Given the description of an element on the screen output the (x, y) to click on. 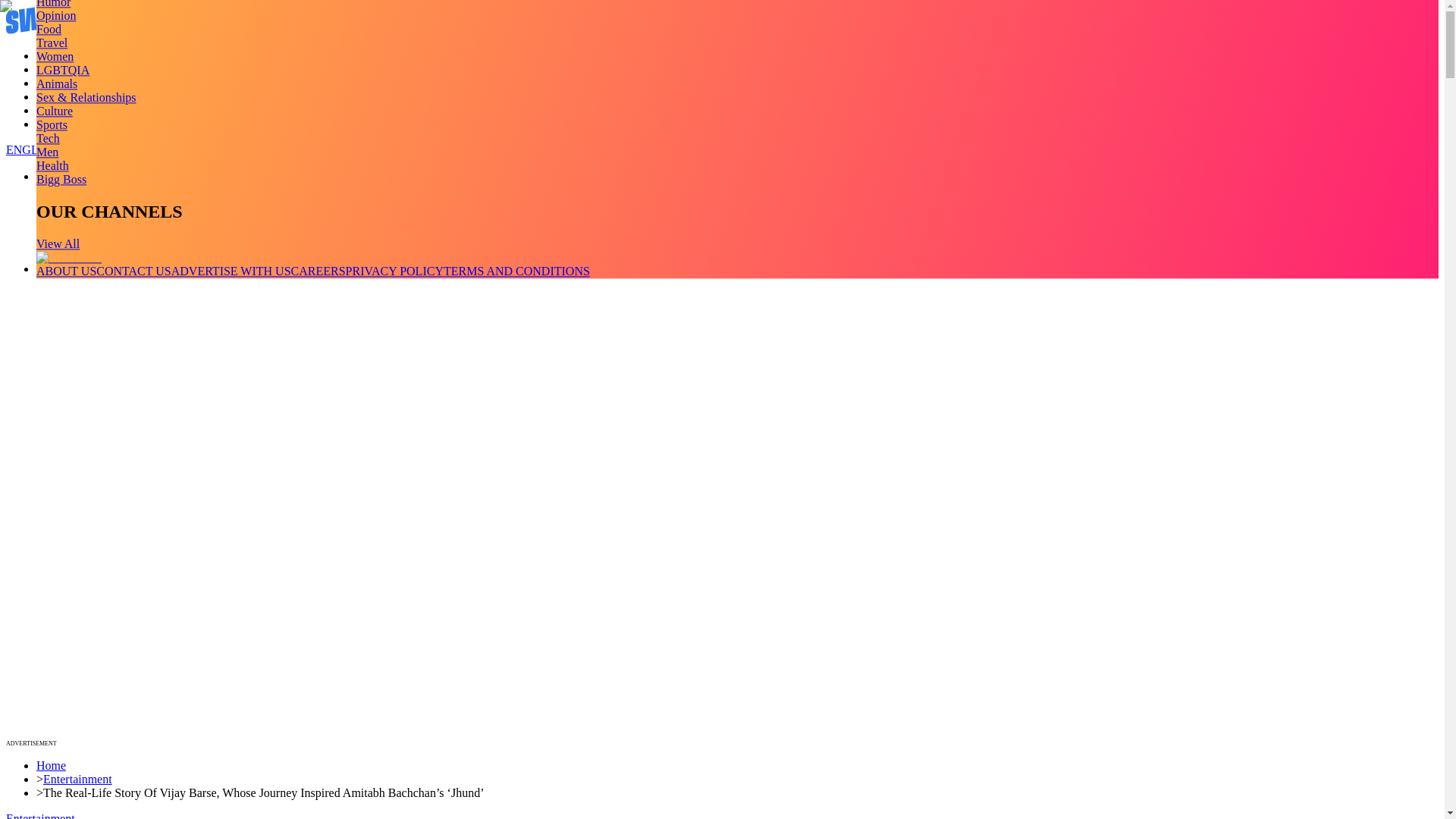
Bigg Boss (60, 178)
Travel (51, 42)
Men (47, 151)
Sports (51, 124)
ADVERTISE WITH US (231, 270)
Stories (52, 82)
Opinion (55, 15)
Tech (47, 137)
Quizzes (55, 96)
Videos (52, 69)
